Given the description of an element on the screen output the (x, y) to click on. 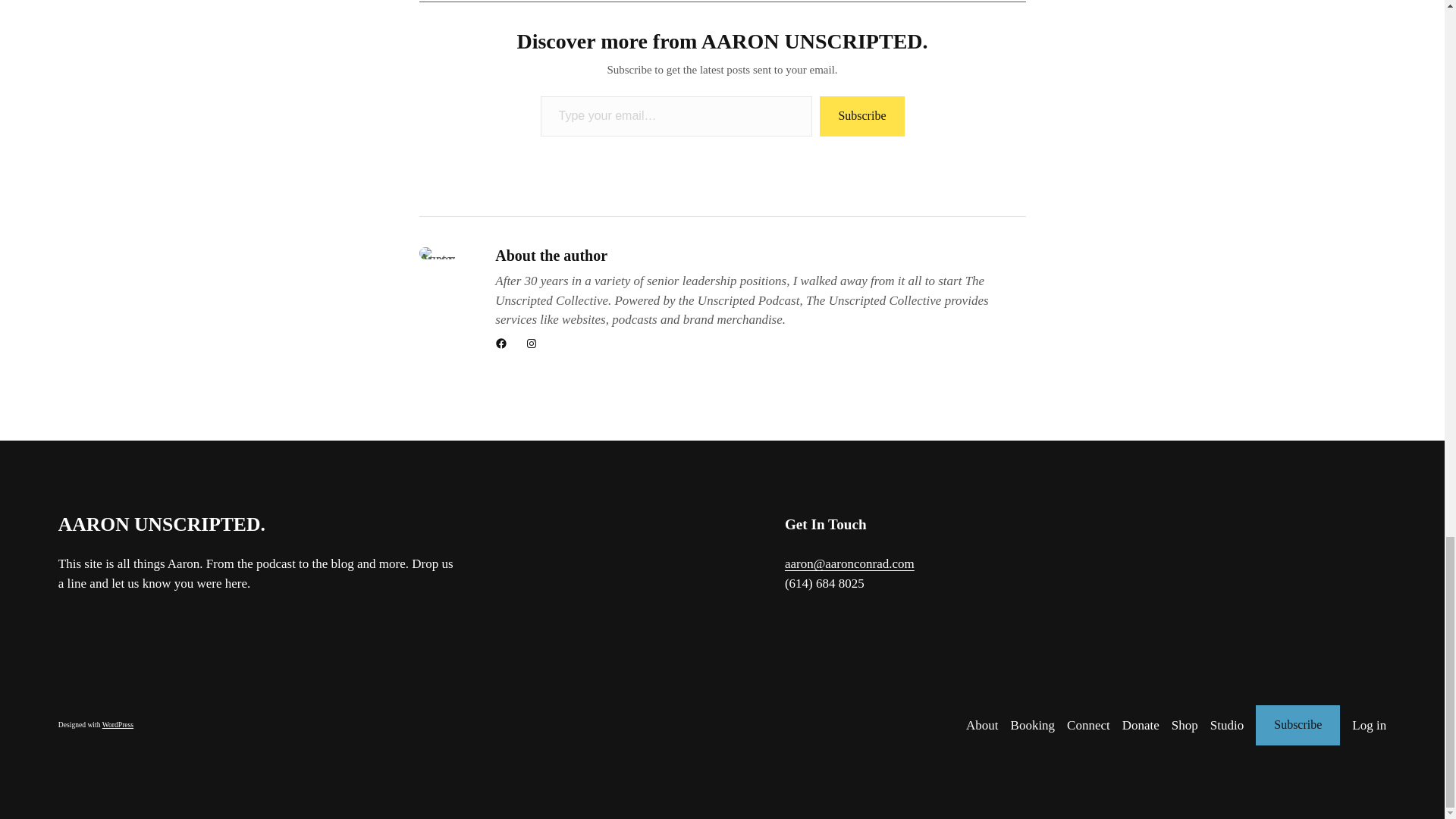
Subscribe (1297, 725)
Connect (1088, 725)
AARON UNSCRIPTED. (161, 524)
WordPress (117, 724)
Booking (1032, 725)
Please fill in this field. (676, 116)
About (982, 725)
Donate (1140, 725)
Subscribe (861, 116)
Studio (1226, 725)
